Given the description of an element on the screen output the (x, y) to click on. 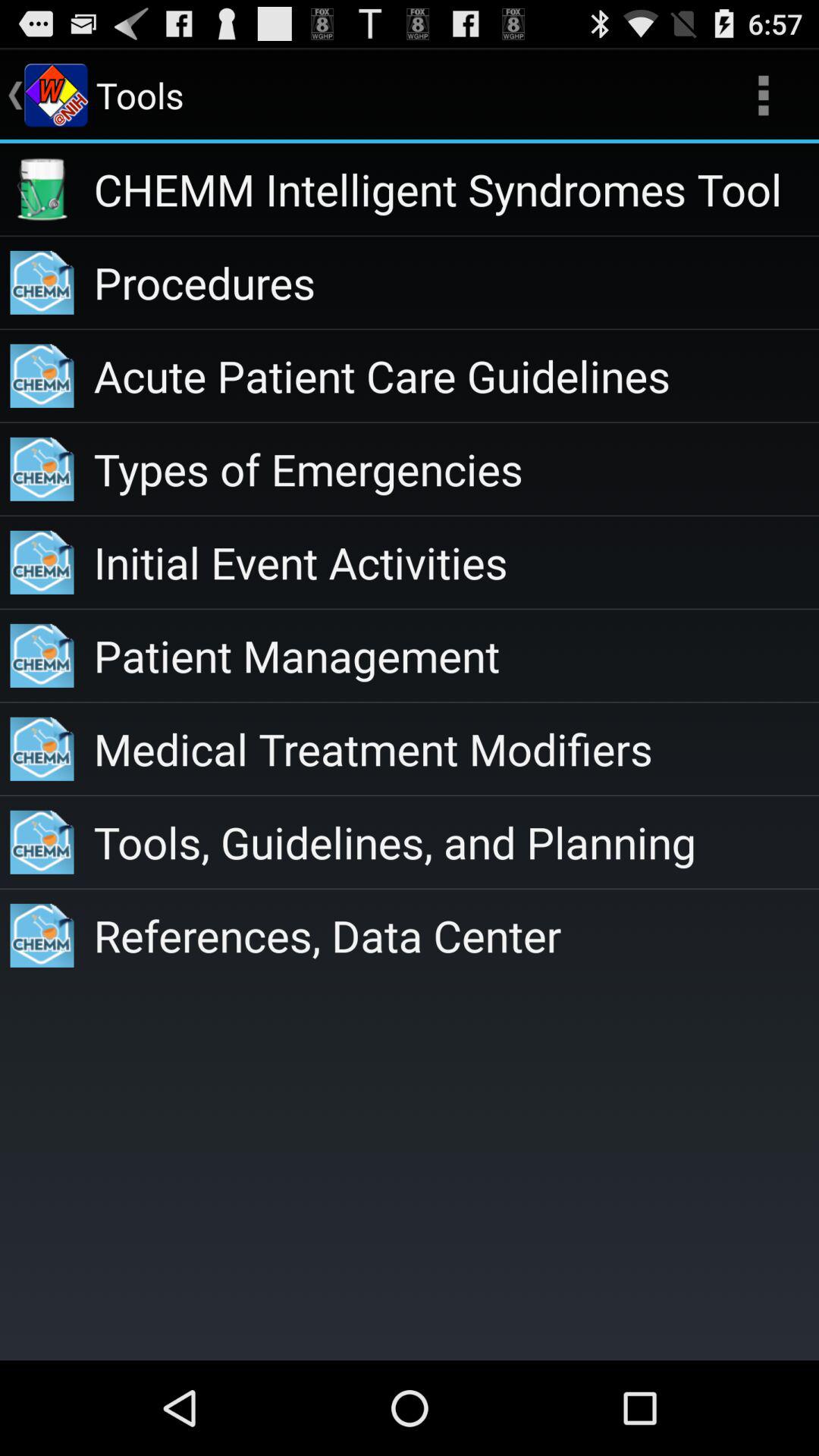
open item below types of emergencies app (456, 562)
